Given the description of an element on the screen output the (x, y) to click on. 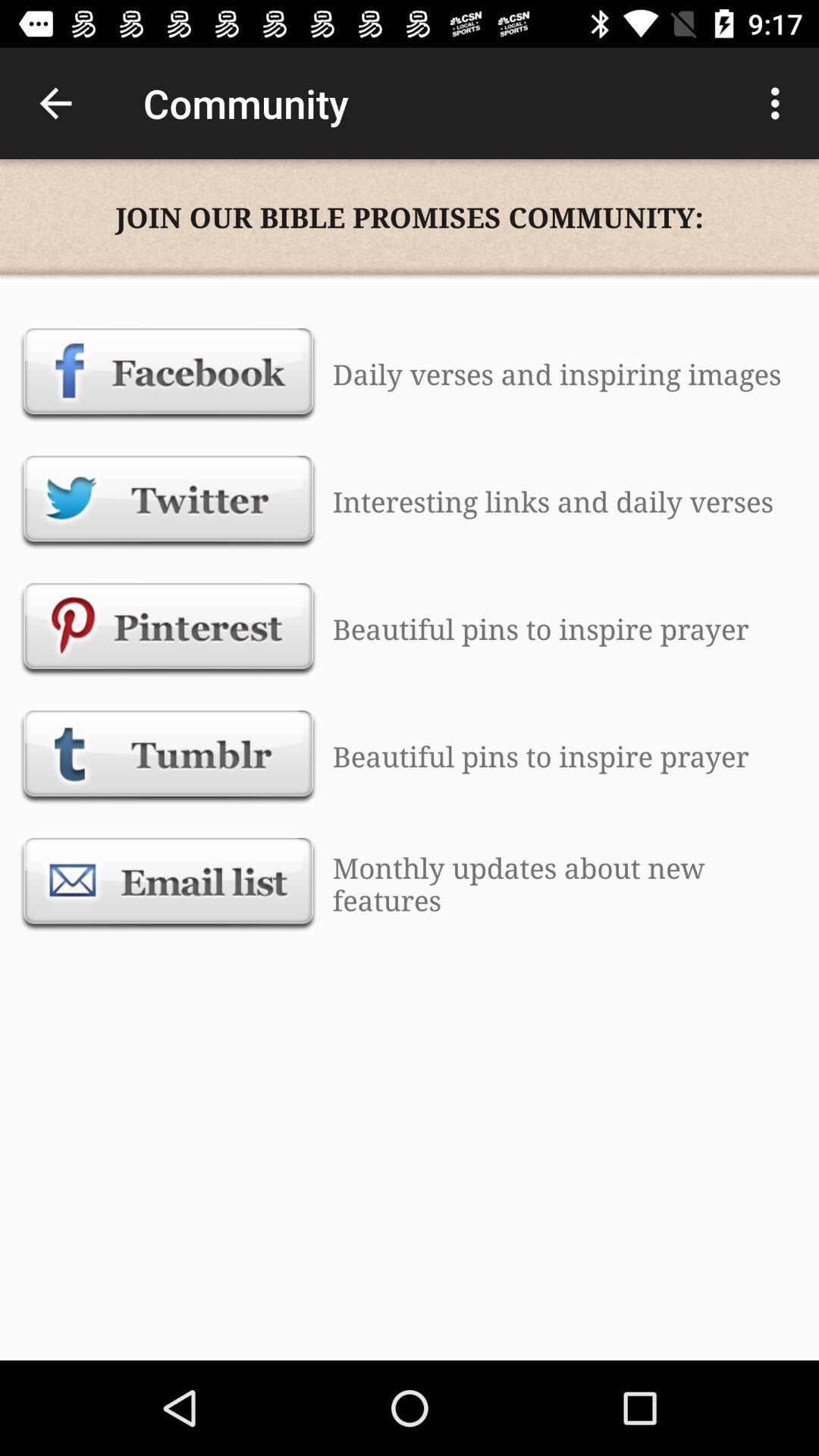
click on text which is below facebook (167, 502)
select the text box which says tumbler (167, 757)
click on email list (167, 883)
click on menu (779, 103)
click on pinterest button (167, 628)
